Given the description of an element on the screen output the (x, y) to click on. 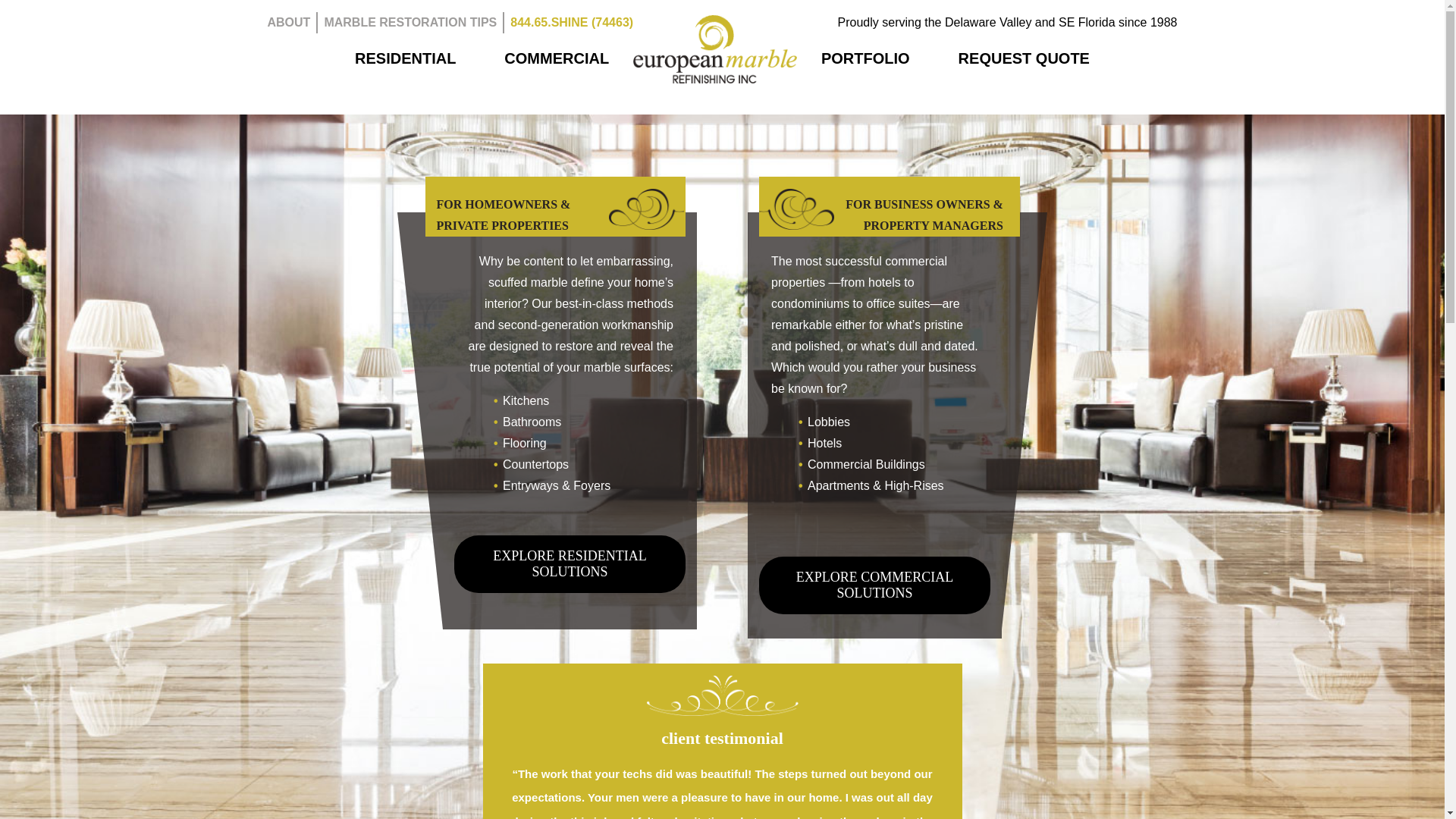
ABOUT (288, 21)
REQUEST QUOTE (1023, 57)
COMMERCIAL (555, 57)
RESIDENTIAL (405, 57)
Residential (569, 563)
MARBLE RESTORATION TIPS (409, 21)
EXPLORE RESIDENTIAL SOLUTIONS (569, 563)
Commercial (874, 585)
EXPLORE COMMERCIAL SOLUTIONS (874, 585)
PORTFOLIO (865, 57)
